Given the description of an element on the screen output the (x, y) to click on. 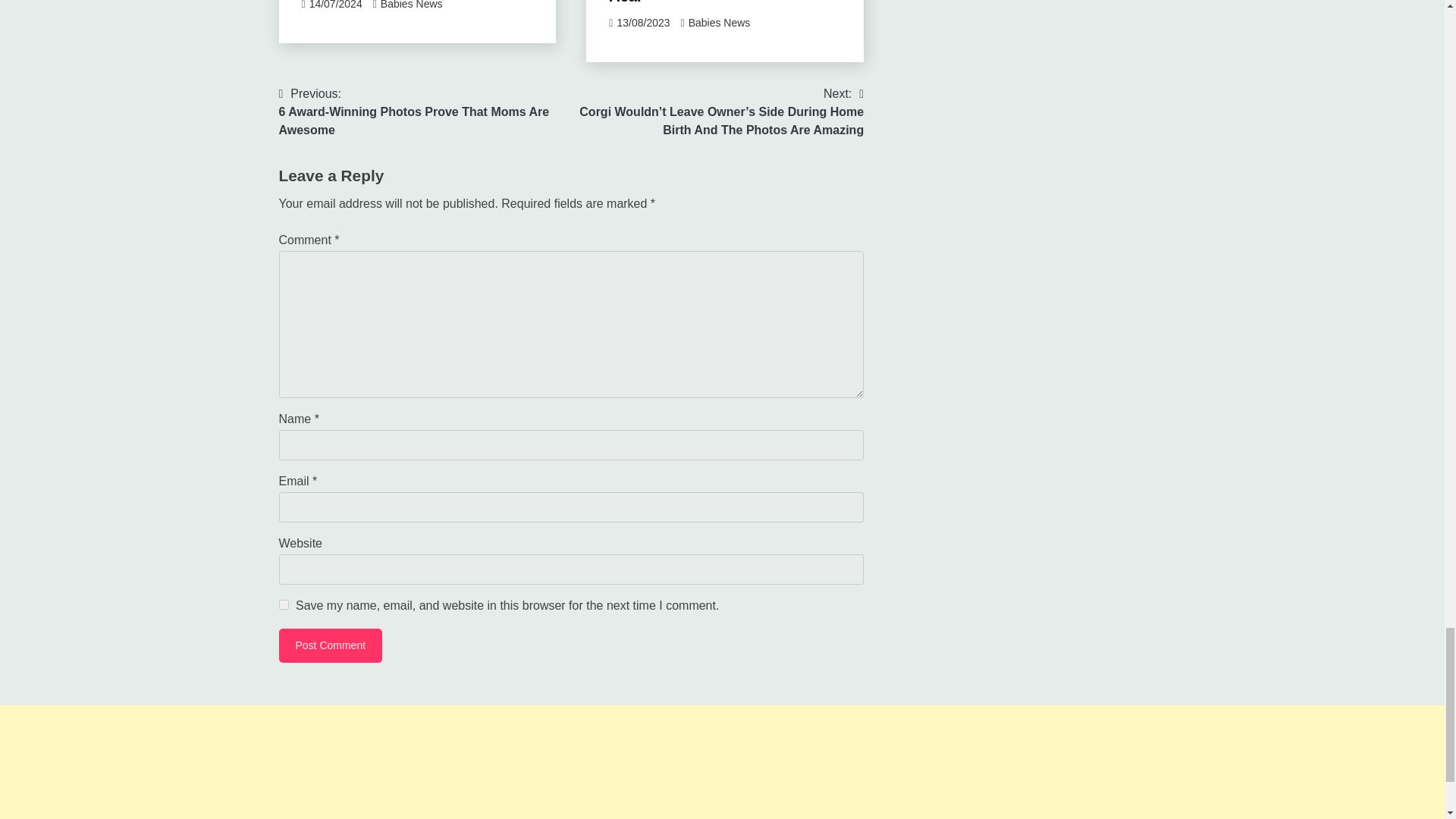
Post Comment (330, 645)
yes (283, 604)
Post Comment (425, 112)
Babies News (330, 645)
Babies News (411, 4)
